Given the description of an element on the screen output the (x, y) to click on. 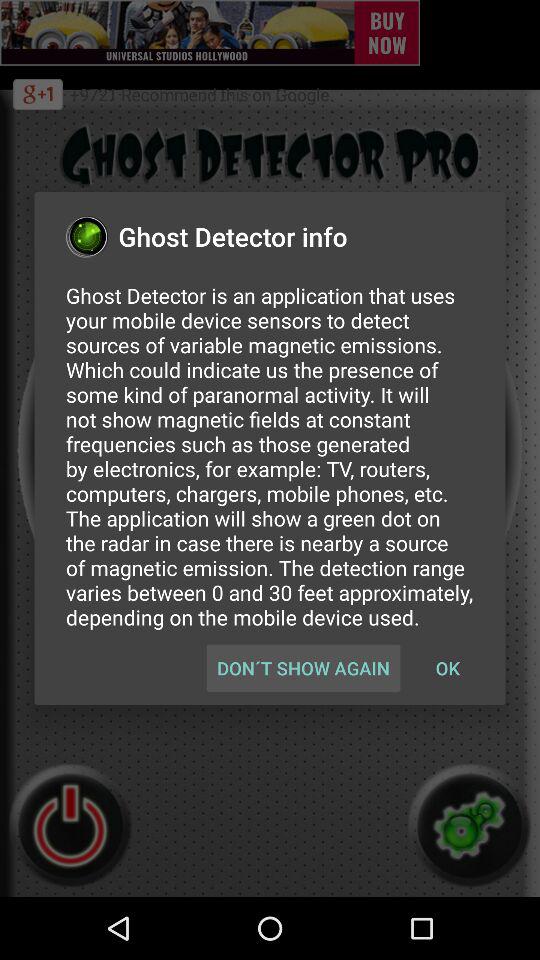
click the item at the bottom (303, 667)
